Given the description of an element on the screen output the (x, y) to click on. 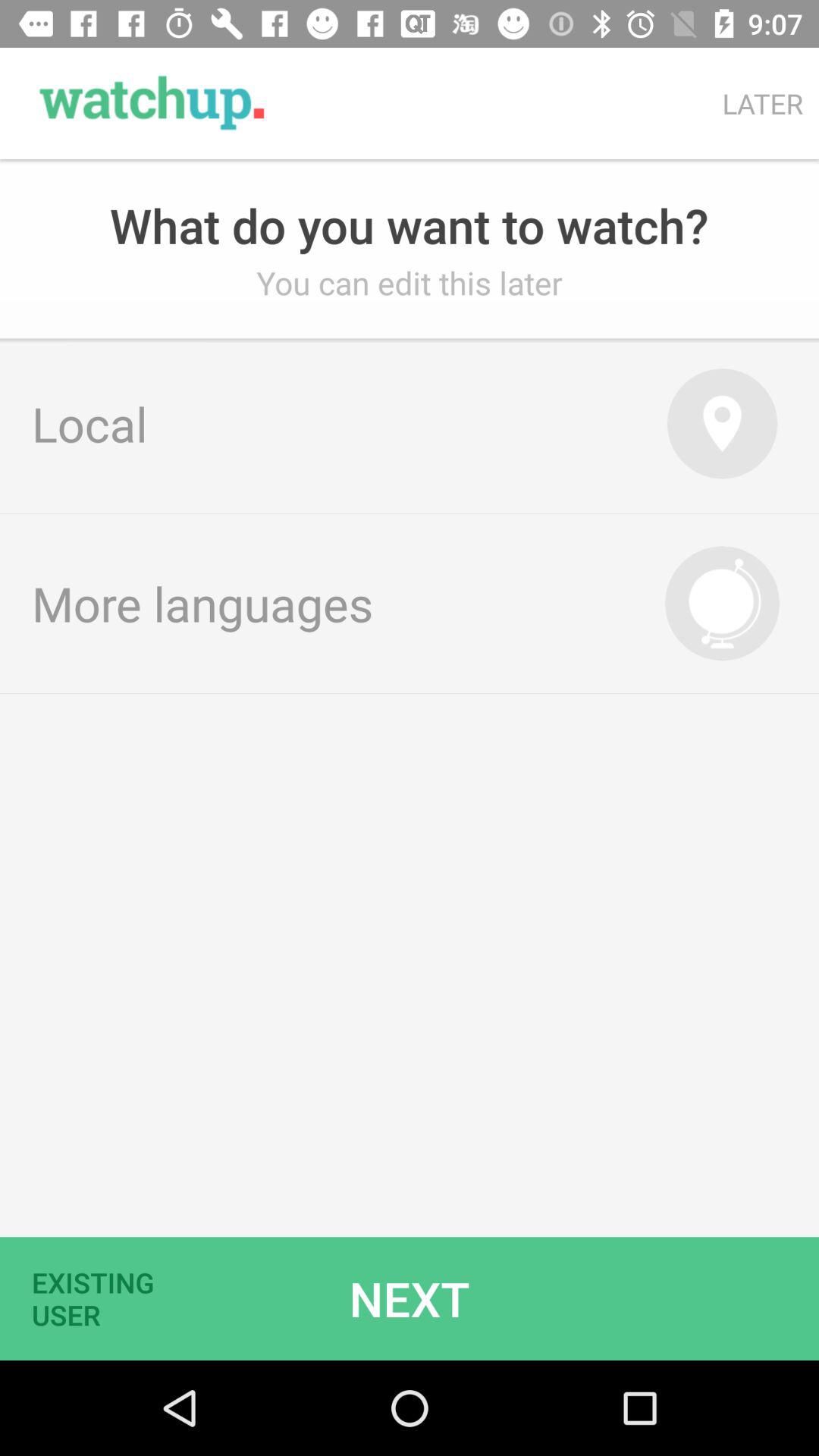
flip until the next icon (409, 1298)
